Given the description of an element on the screen output the (x, y) to click on. 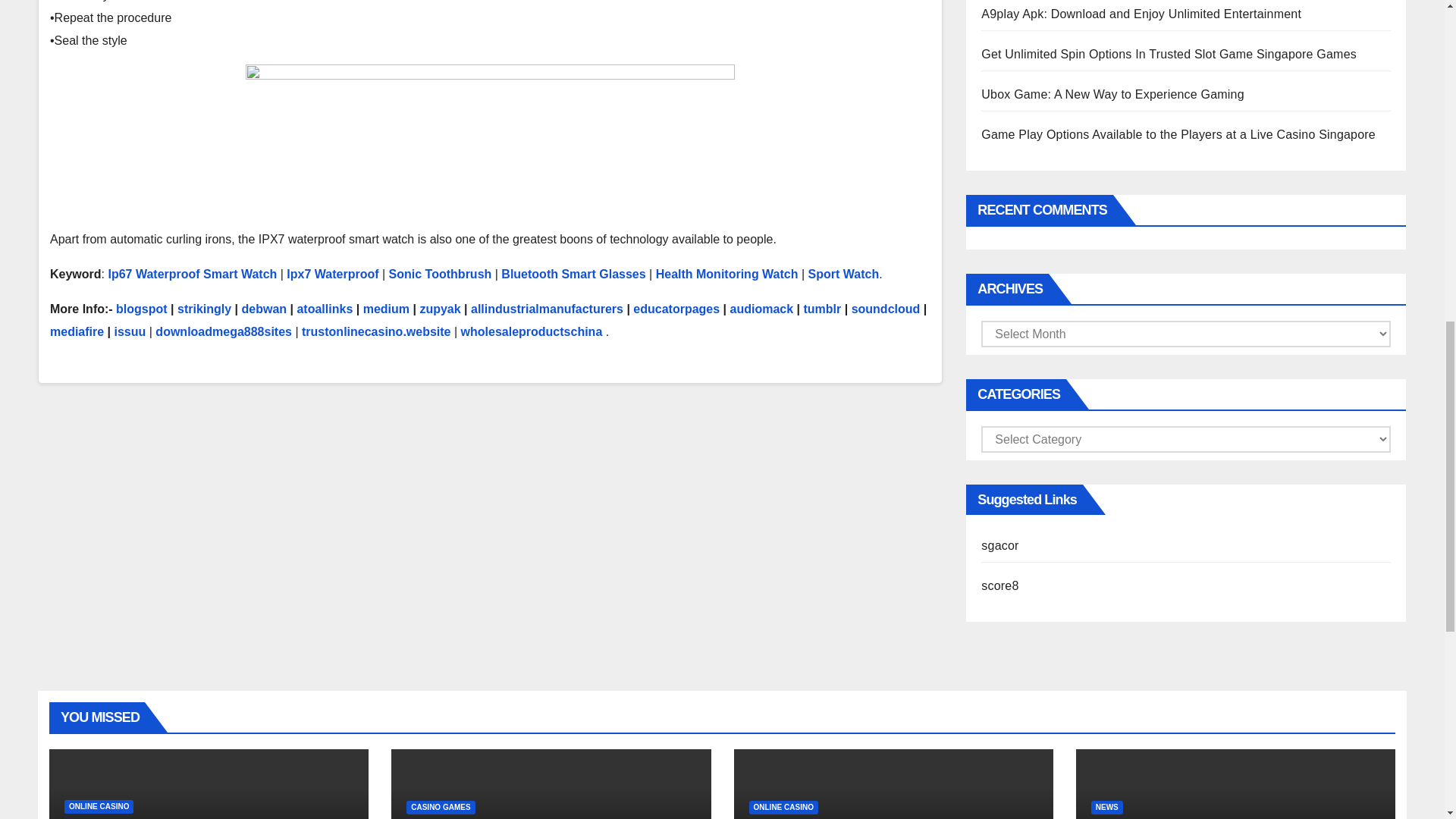
atoallinks (324, 308)
educatorpages (676, 308)
soundcloud (885, 308)
Bluetooth Smart Glasses (572, 273)
Health Monitoring Watch (726, 273)
blogspot (141, 308)
tumblr (822, 308)
Sport Watch (843, 273)
allindustrialmanufacturers (546, 308)
Ip67 Waterproof Smart Watch (191, 273)
Sonic Toothbrush (440, 273)
issuu (131, 331)
Ipx7 Waterproof (332, 273)
